Given the description of an element on the screen output the (x, y) to click on. 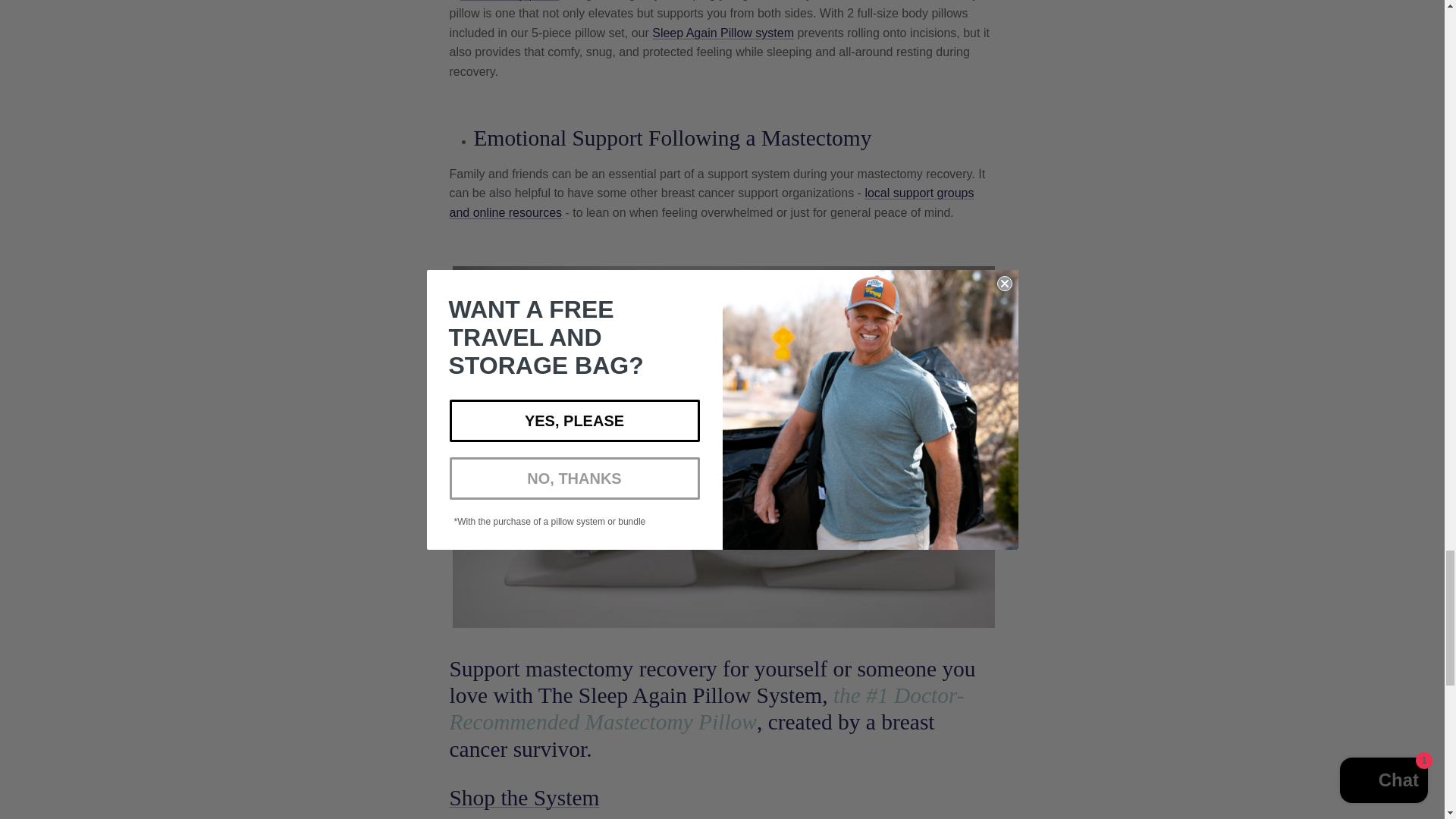
Mastectomy Pillow (523, 797)
